Given the description of an element on the screen output the (x, y) to click on. 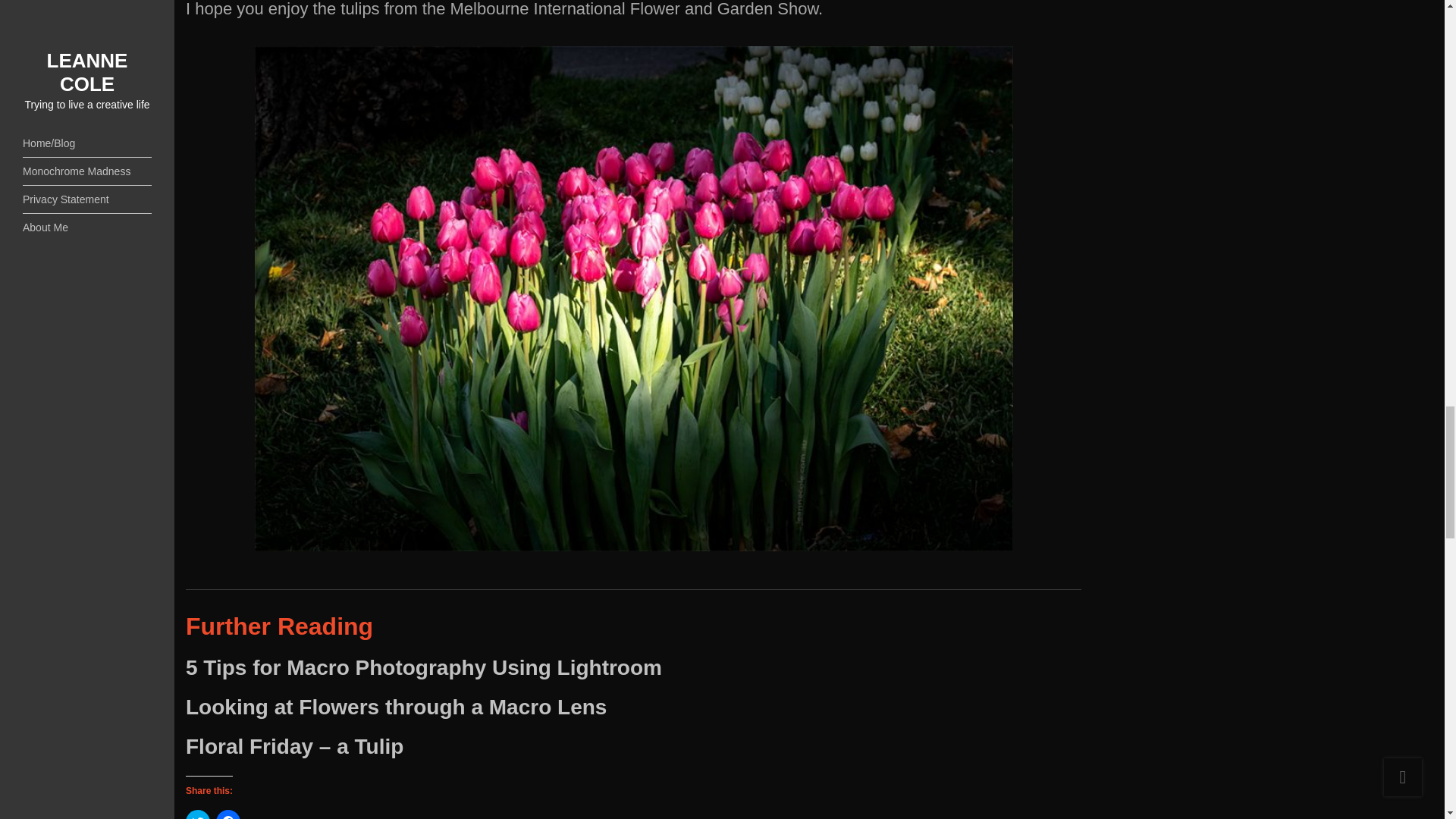
5 Tips for Macro Photography Using Lightroom (424, 667)
Click to share on Twitter (197, 814)
Looking at Flowers through a Macro Lens (396, 707)
Click to share on Facebook (227, 814)
